Given the description of an element on the screen output the (x, y) to click on. 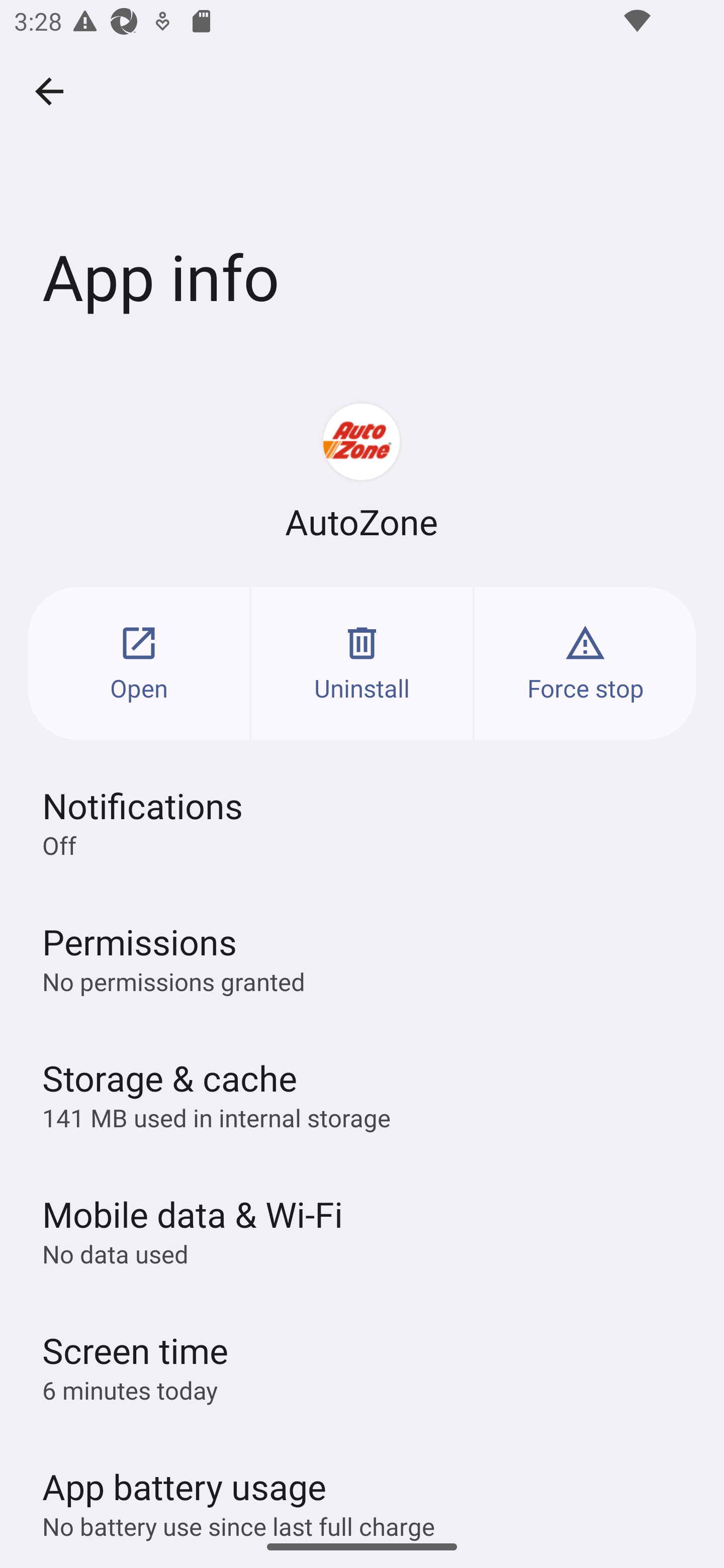
Navigate up (49, 91)
Open (138, 663)
Uninstall (361, 663)
Force stop (584, 663)
Notifications Off (362, 822)
Permissions No permissions granted (362, 957)
Storage & cache 141 MB used in internal storage (362, 1093)
Mobile data & Wi‑Fi No data used (362, 1229)
Screen time 6 minutes today (362, 1366)
